Given the description of an element on the screen output the (x, y) to click on. 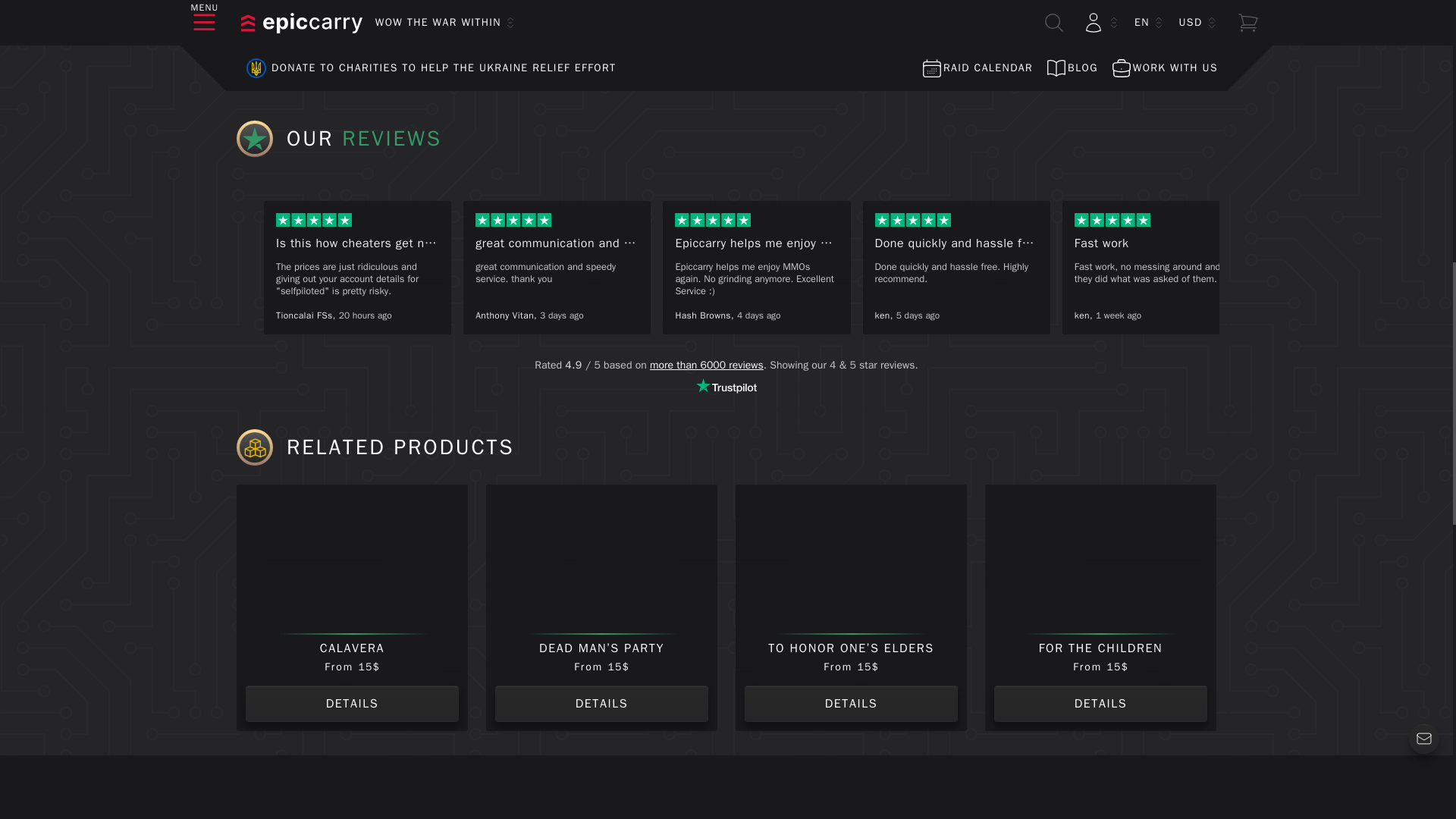
2024-08-18 22:00:31 (561, 315)
2024-08-17 15:32:06 (758, 315)
2024-08-16 06:52:56 (918, 315)
2024-08-20 22:02:54 (365, 315)
2024-08-13 22:13:58 (1118, 315)
